Given the description of an element on the screen output the (x, y) to click on. 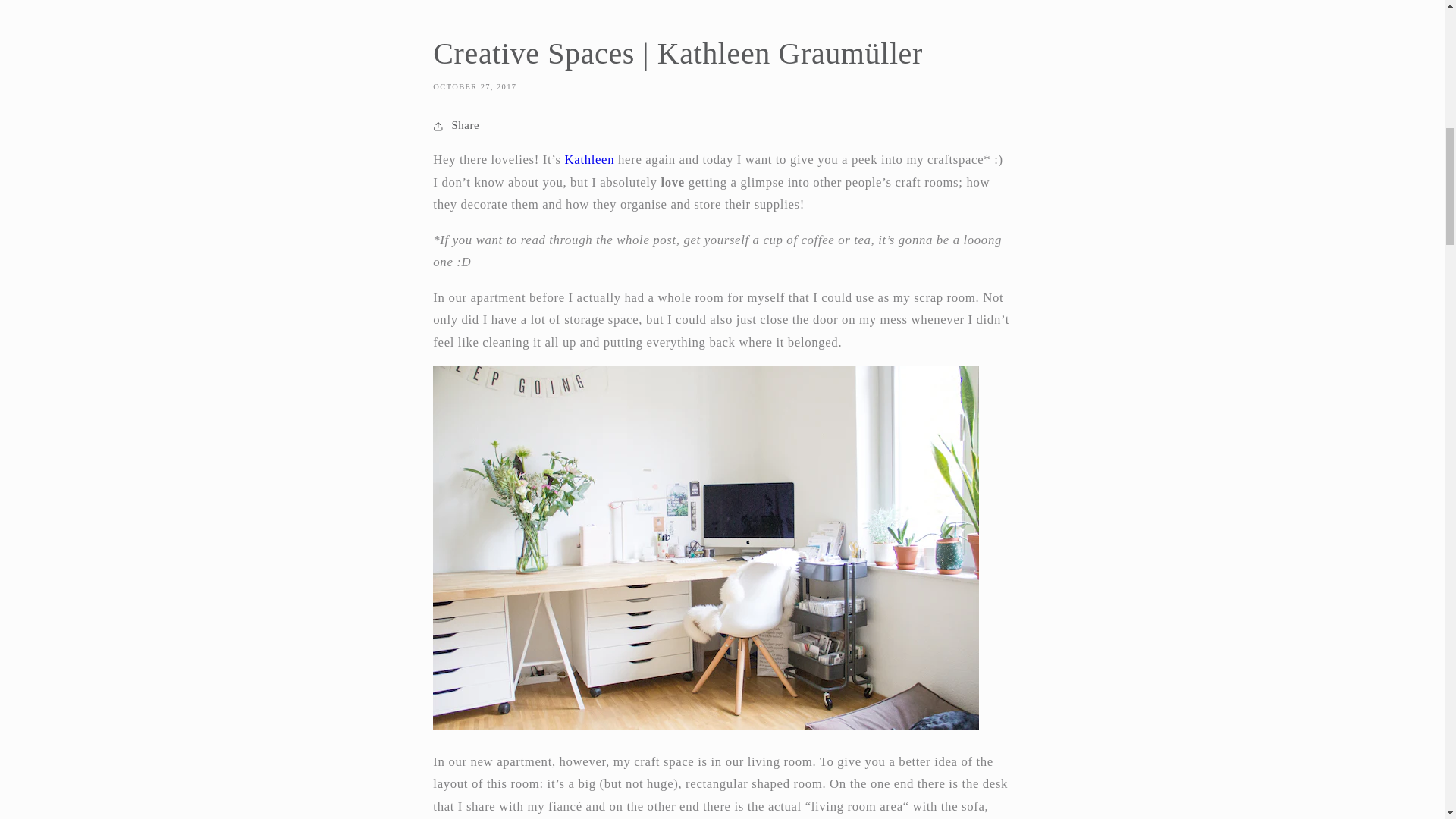
Kathleen (589, 159)
